Given the description of an element on the screen output the (x, y) to click on. 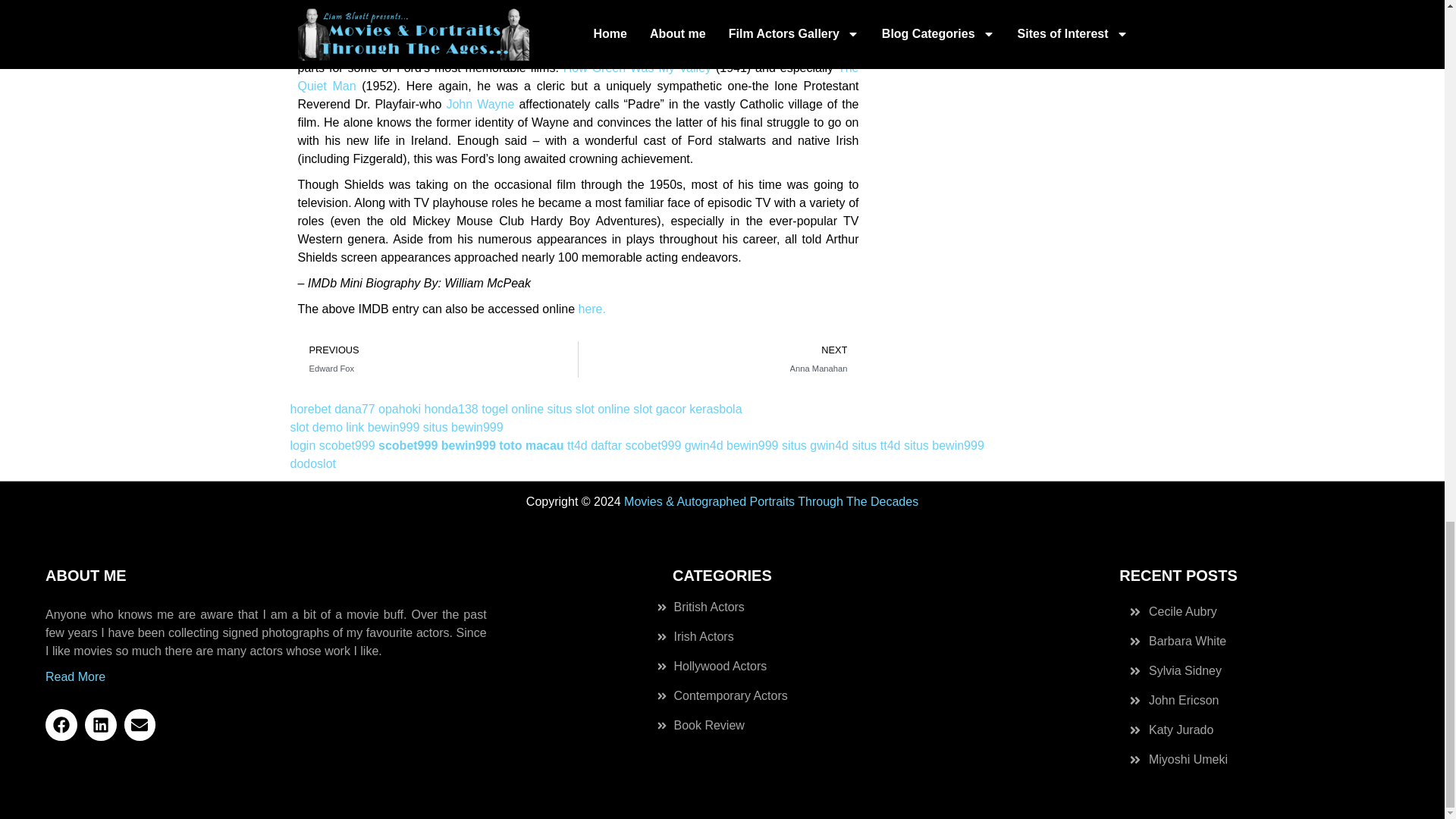
Arthur Shields (591, 308)
